Given the description of an element on the screen output the (x, y) to click on. 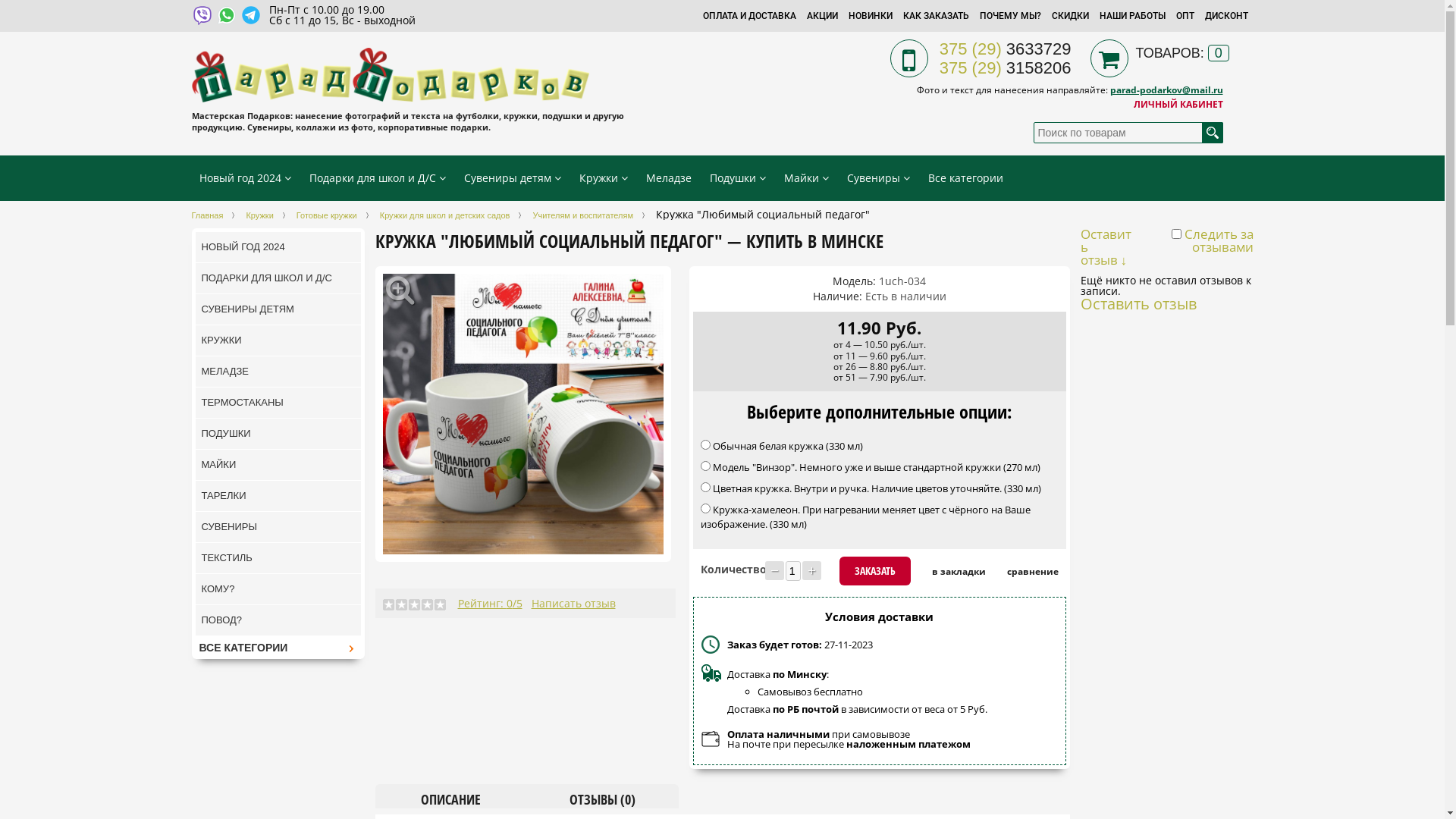
parad-podarkov@mail.ru Element type: text (1166, 89)
paradpodarkov.by Element type: hover (390, 74)
375 (29) 3158206 Element type: text (1005, 67)
375 (29) 3633729 Element type: text (1005, 48)
